Given the description of an element on the screen output the (x, y) to click on. 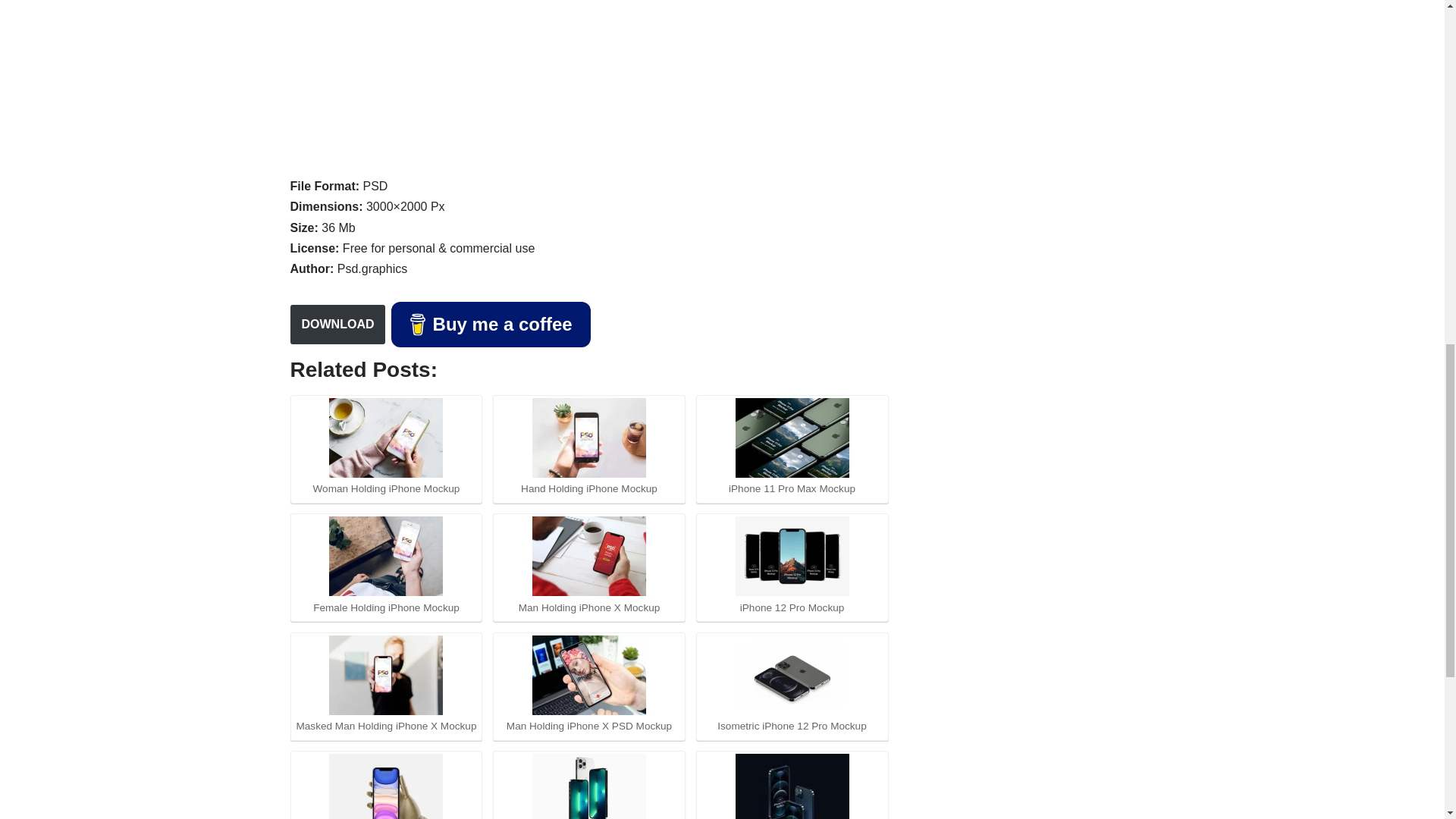
iPhone 12 Pro Mockup PSD (791, 786)
Advertisement (588, 84)
Hand Holding iPhone Mockup (589, 437)
iPhone 12 Pro Mockup (791, 556)
Isometric iPhone 12 Pro Mockup (791, 674)
Masked Man Holding iPhone X Mockup (385, 674)
iPhone 11 Pro Max Mockup (791, 437)
Woman Holding iPhone Mockup (385, 437)
Hand Holding iPhone 11 Mockup (385, 786)
Female Holding iPhone Mockup (385, 556)
iPhone 13 Pro Max Mockup (589, 786)
Man Holding iPhone X PSD Mockup (589, 674)
Man Holding iPhone X Mockup (589, 556)
